Given the description of an element on the screen output the (x, y) to click on. 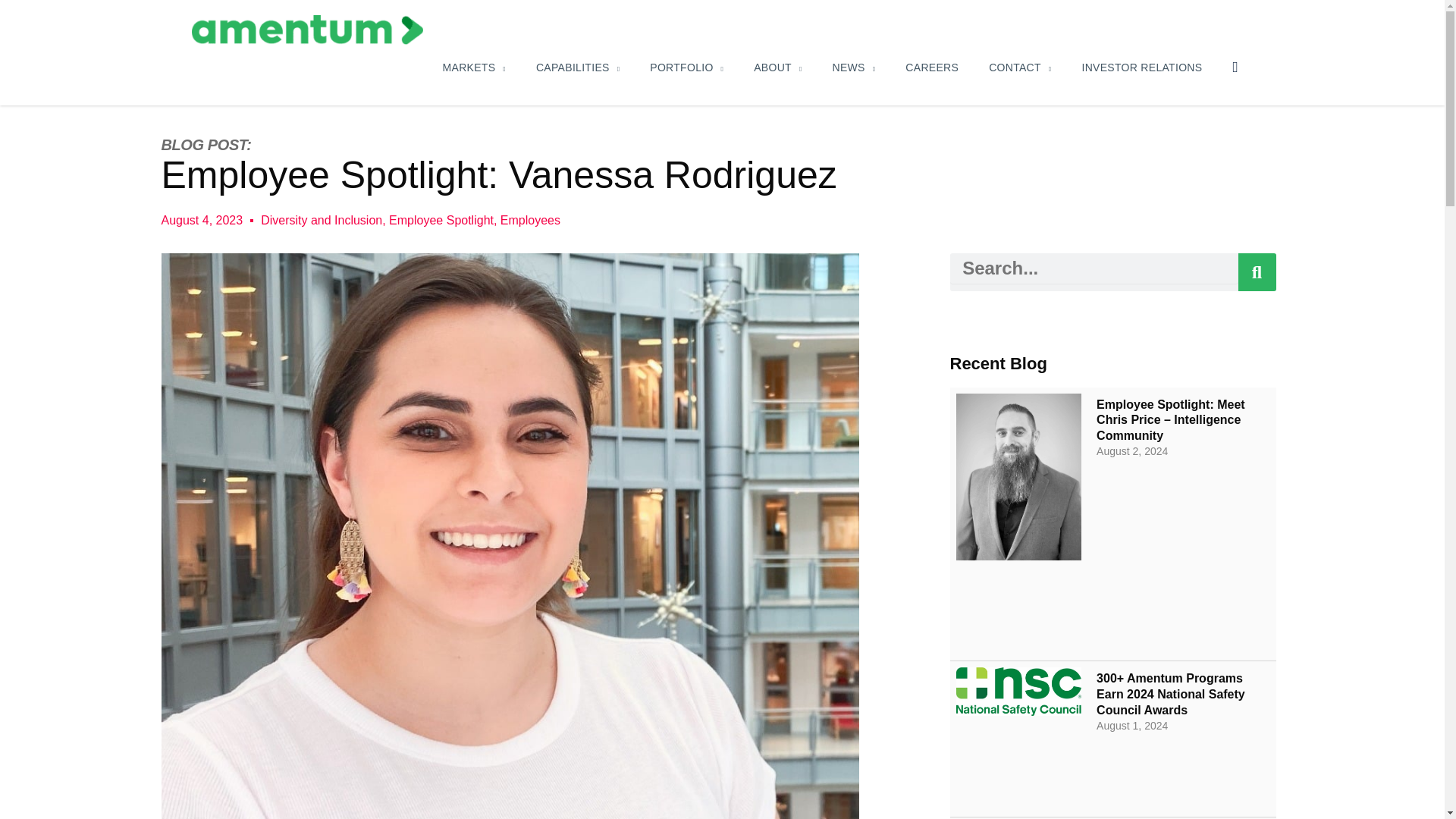
MARKETS (474, 66)
CAPABILITIES (577, 66)
PORTFOLIO (686, 66)
